Given the description of an element on the screen output the (x, y) to click on. 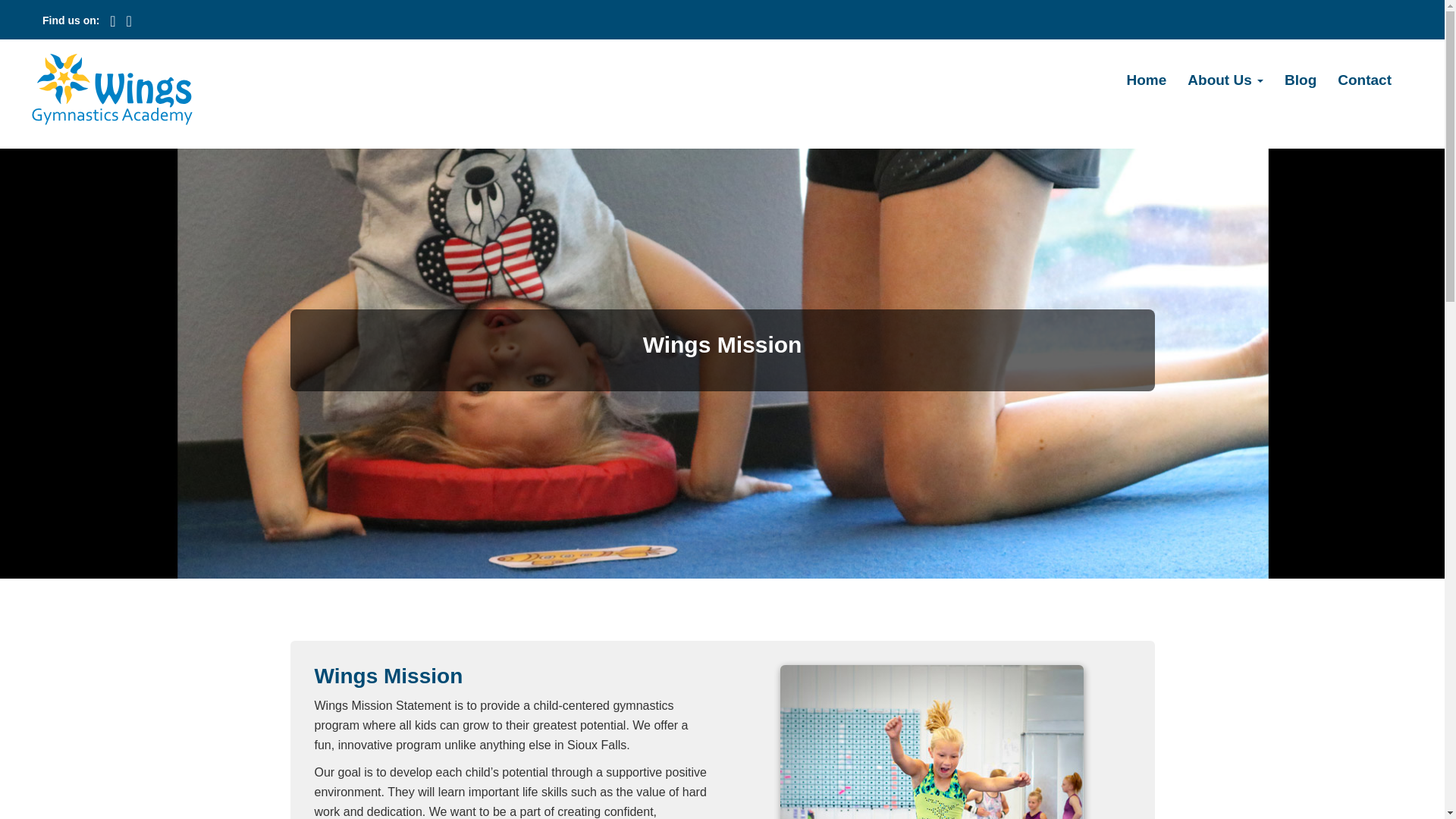
About Us (1225, 80)
mission2 (931, 742)
Blog (1300, 80)
Contact (1364, 80)
Home (1146, 80)
